Given the description of an element on the screen output the (x, y) to click on. 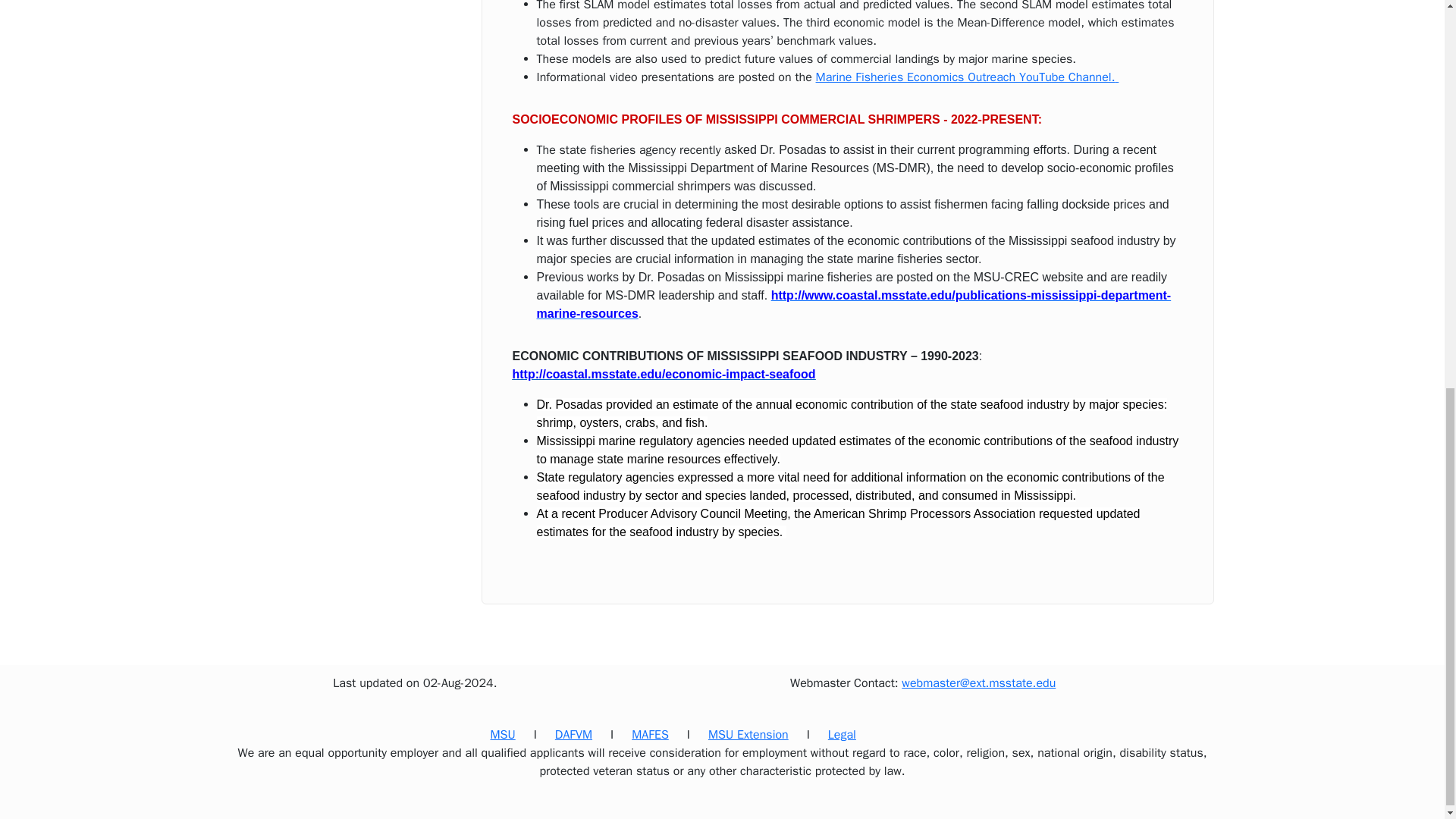
DAFVM (573, 734)
MSU (502, 734)
MAFES (649, 734)
MSU Extension (748, 734)
Legal (842, 734)
Marine Fisheries Economics Outreach YouTube Channel.  (967, 77)
